Given the description of an element on the screen output the (x, y) to click on. 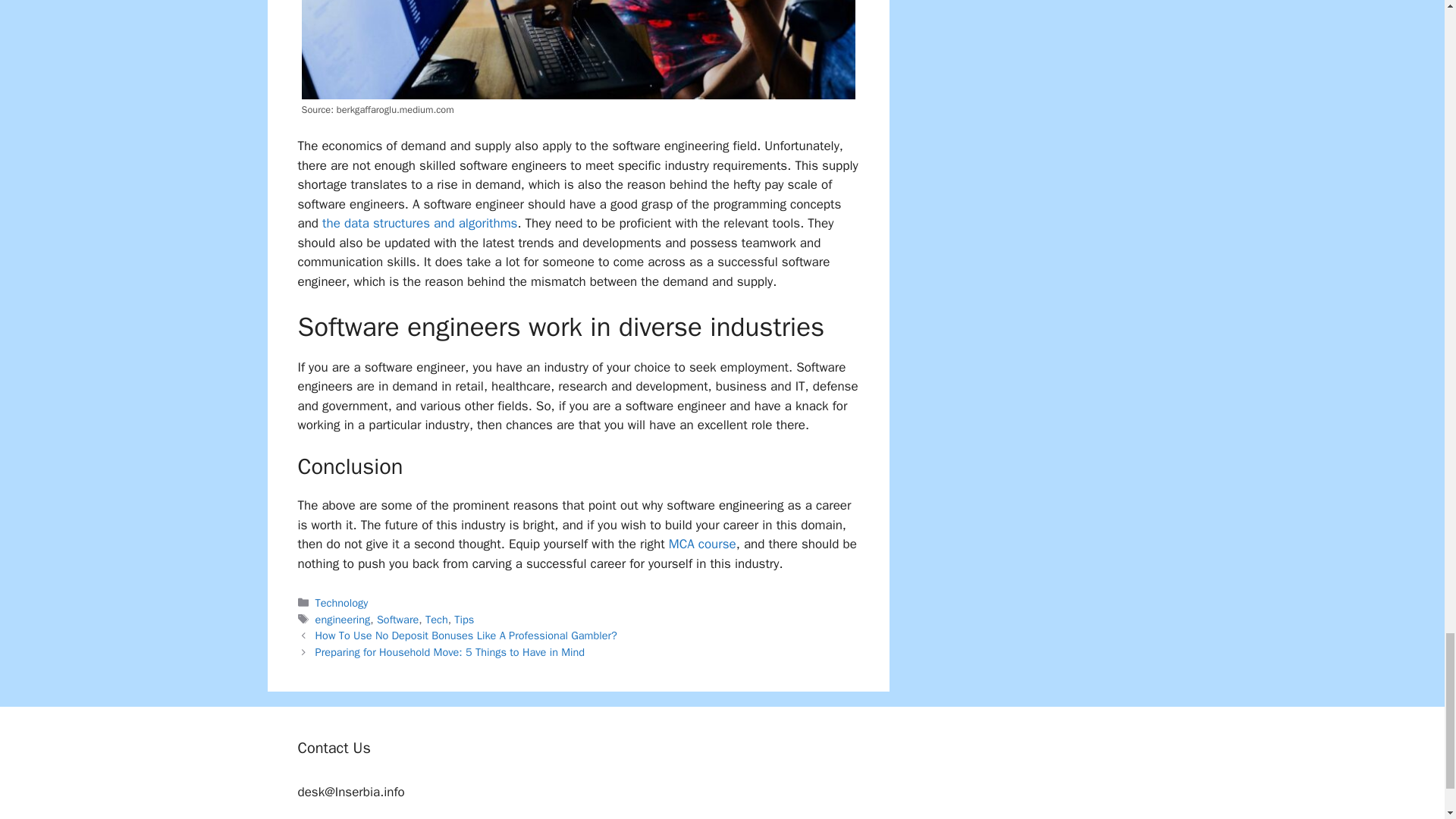
Tech (436, 619)
Technology (341, 602)
Preparing for Household Move: 5 Things to Have in Mind (450, 652)
MCA course (702, 544)
the data structures and algorithms (418, 222)
Tips (464, 619)
Software (398, 619)
engineering (343, 619)
